Given the description of an element on the screen output the (x, y) to click on. 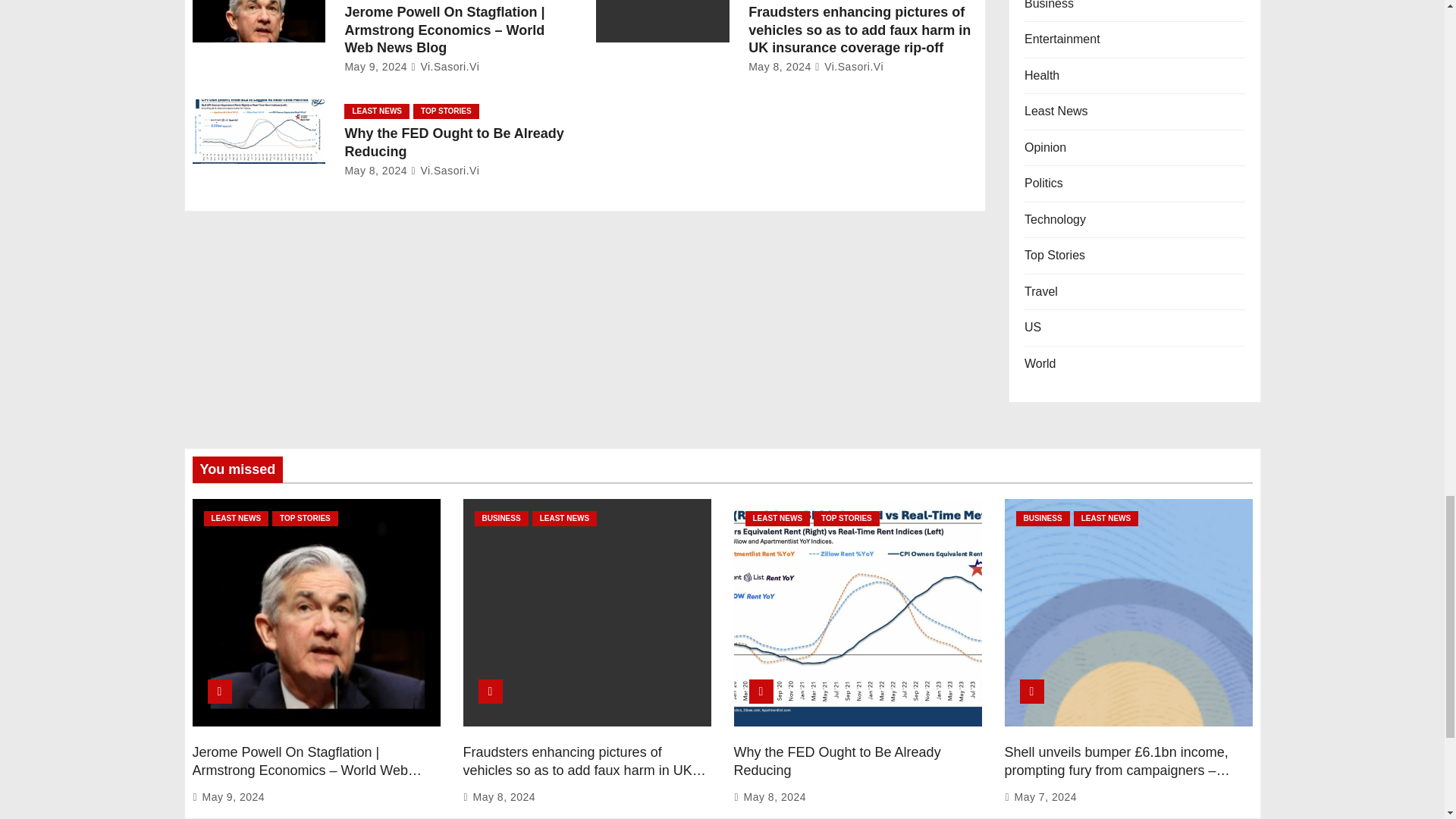
Permalink to: Why the FED Ought to Be Already Reducing (836, 761)
Permalink to: Why the FED Ought to Be Already Reducing (453, 142)
